Given the description of an element on the screen output the (x, y) to click on. 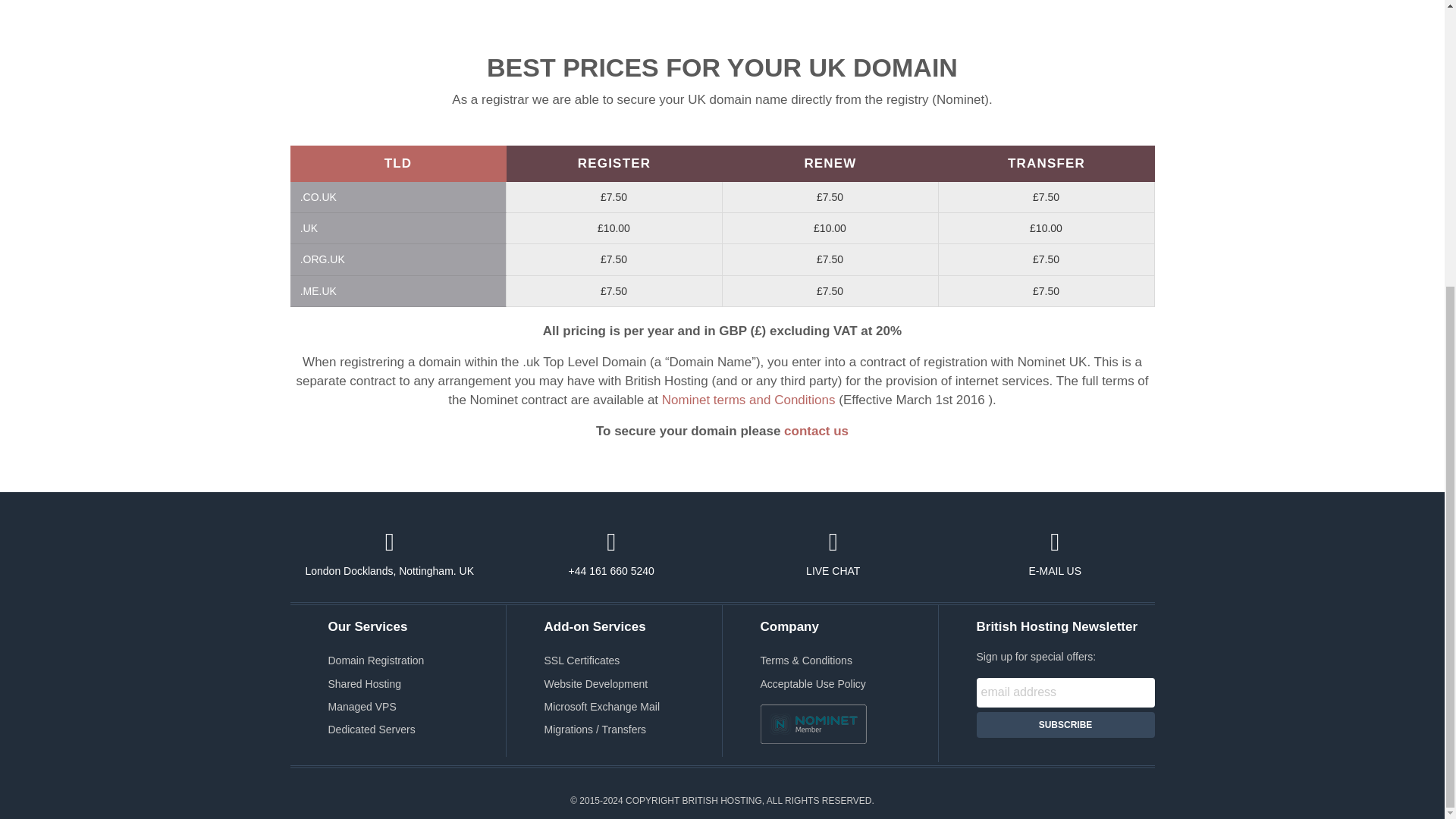
SSL Certificates (582, 660)
Domain Registration (375, 660)
Nominet terms and Conditions (750, 400)
Managed VPS (361, 706)
Dedicated Servers (370, 729)
Subscribe (1065, 724)
contact us (816, 431)
Shared Hosting (364, 684)
Subscribe (1065, 724)
Acceptable Use Policy (812, 684)
Website Development (595, 684)
Microsoft Exchange Mail (602, 706)
